Given the description of an element on the screen output the (x, y) to click on. 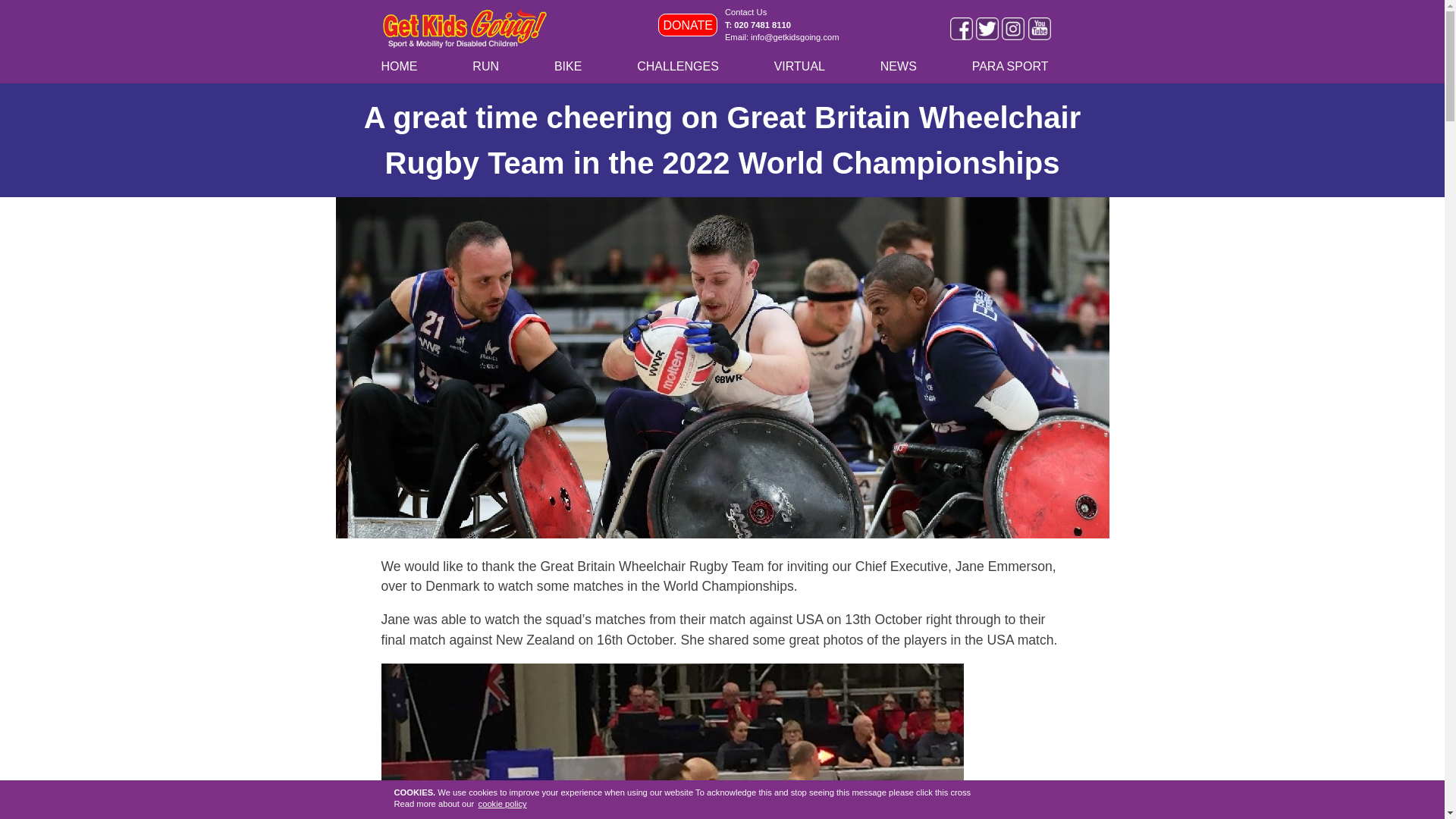
RUN (492, 66)
HOME (406, 66)
DONATE (687, 24)
cookie policy (502, 804)
